Given the description of an element on the screen output the (x, y) to click on. 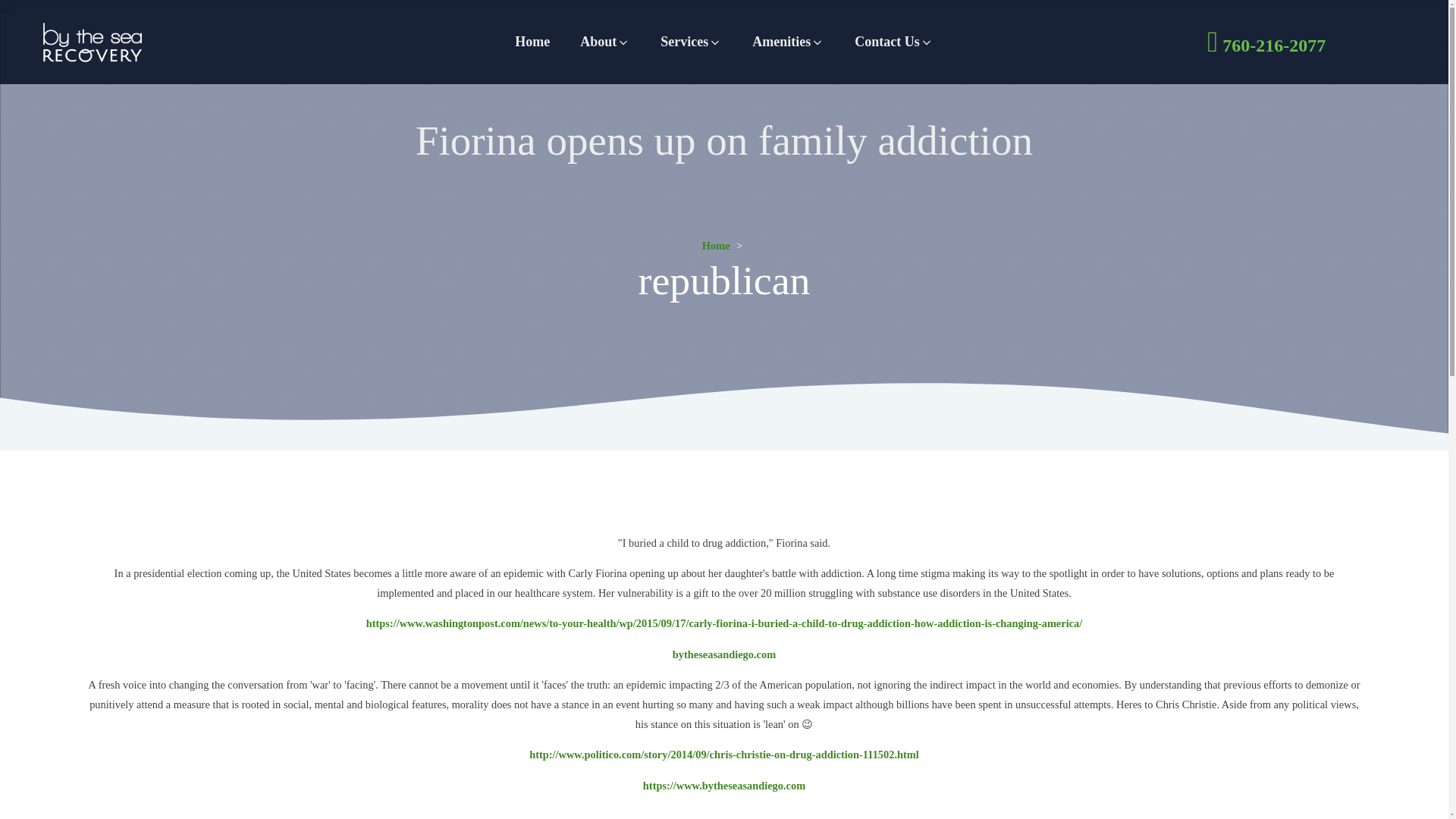
Contact Us (894, 41)
Home (531, 41)
Services (690, 41)
Amenities (788, 41)
760-216-2077 (1268, 41)
About (604, 41)
Home (715, 245)
bytheseasandiego.com (724, 654)
